Given the description of an element on the screen output the (x, y) to click on. 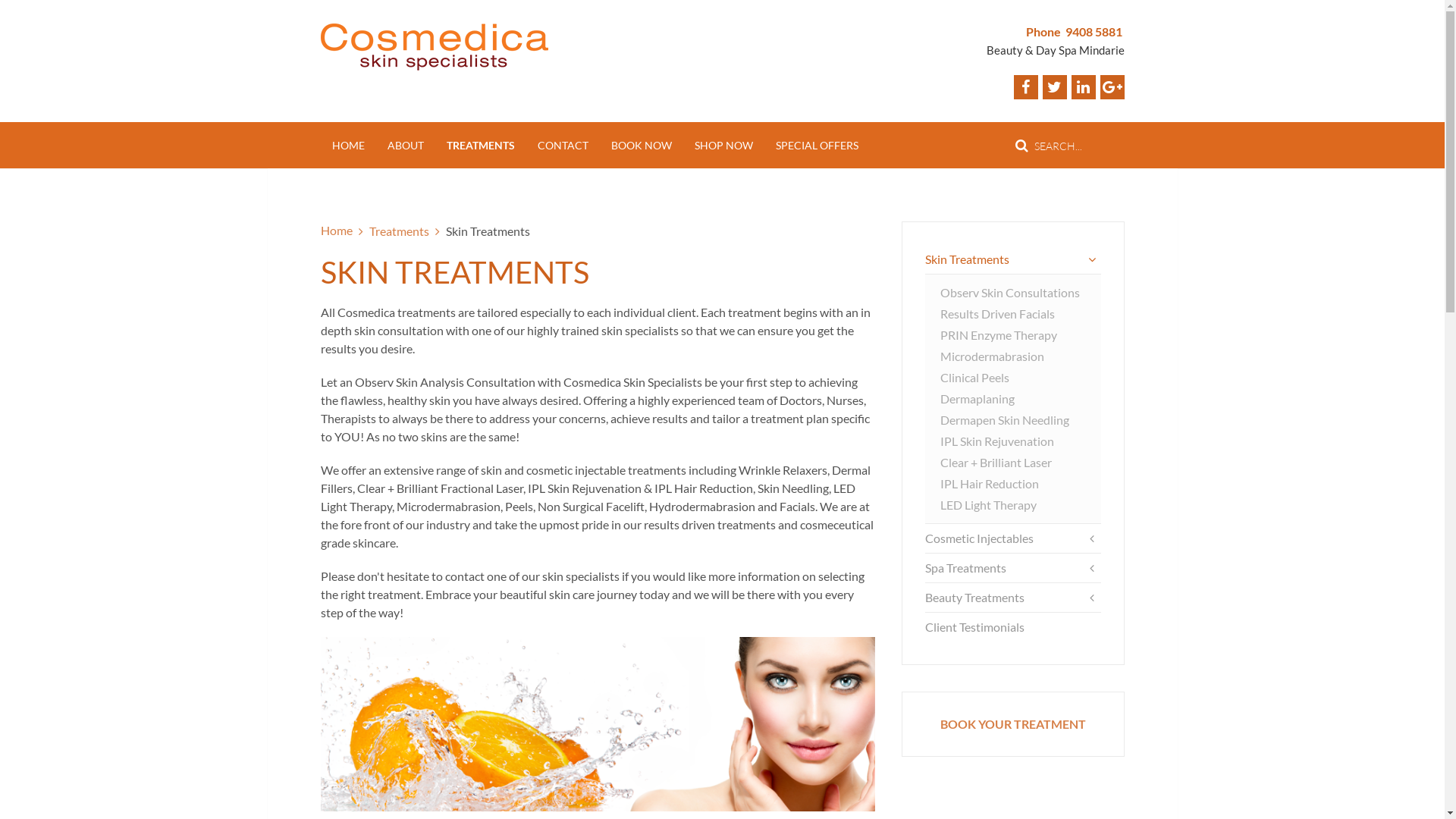
HOME Element type: text (347, 145)
BOOK NOW Element type: text (640, 145)
Beauty & Day Spa Mindarie Element type: text (1054, 49)
Clinical Peels Element type: text (1012, 377)
Cosmetic Injectables Element type: text (1013, 537)
Observ Skin Consultations Element type: text (1012, 292)
Clear + Brilliant Laser Element type: text (1012, 462)
Home Element type: text (335, 230)
Client Testimonials Element type: text (1013, 626)
ABOUT Element type: text (405, 145)
IPL Hair Reduction Element type: text (1012, 483)
SHOP NOW Element type: text (722, 145)
PRIN Enzyme Therapy Element type: text (1012, 334)
LED Light Therapy Element type: text (1012, 504)
Dermaplaning Element type: text (1012, 398)
CONTACT Element type: text (562, 145)
TREATMENTS Element type: text (480, 145)
Skin Treatments Element type: text (1013, 259)
Dermapen Skin Needling Element type: text (1012, 419)
Microdermabrasion Element type: text (1012, 356)
Spa Treatments Element type: text (1013, 567)
Treatments Element type: text (398, 231)
BOOK YOUR TREATMENT Element type: text (1012, 723)
SPECIAL OFFERS Element type: text (816, 145)
IPL Skin Rejuvenation Element type: text (1012, 440)
Beauty Treatments Element type: text (1013, 596)
Results Driven Facials Element type: text (1012, 313)
